Given the description of an element on the screen output the (x, y) to click on. 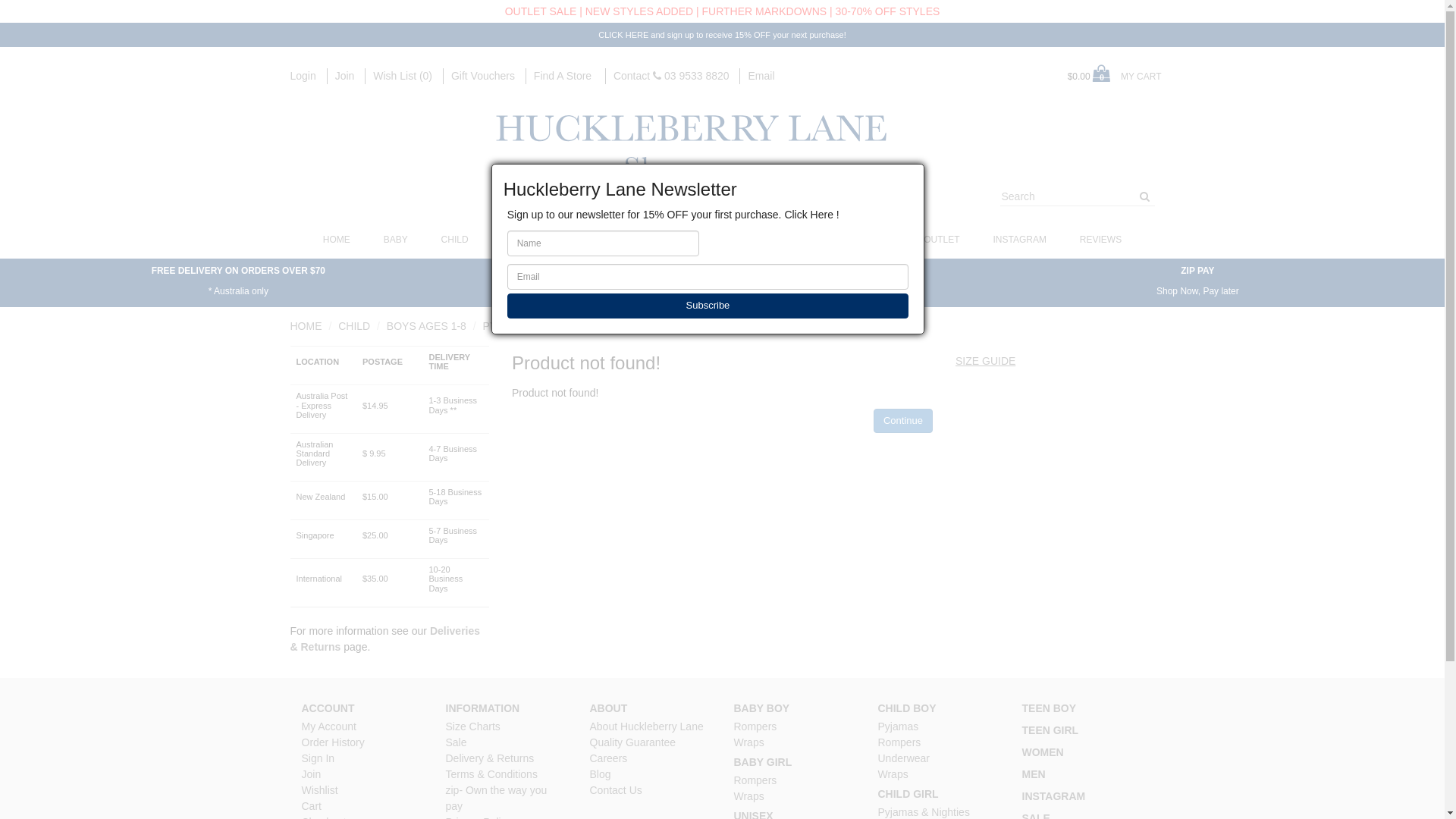
CHILD Element type: text (354, 326)
HOME Element type: text (305, 326)
Careers Element type: text (608, 758)
PYJAMAS Element type: text (507, 326)
Sign In Element type: text (318, 758)
FURTHER MARKDOWNS | Element type: text (767, 11)
Sale Element type: text (456, 742)
OUTLET SALE | Element type: text (543, 11)
Wishlist Element type: text (319, 790)
BABY Element type: text (395, 239)
zip- Own the way you pay Element type: text (496, 798)
Rompers Element type: text (755, 726)
Size Charts Element type: text (472, 726)
Wraps Element type: text (893, 774)
BABY BOY Element type: text (762, 708)
REVIEWS Element type: text (1100, 239)
Delivery & Returns Element type: text (489, 758)
Terms & Conditions Element type: text (491, 774)
Login Element type: text (302, 75)
 03 9533 8820 Element type: text (690, 75)
Pyjamas Element type: text (898, 726)
Order History Element type: text (332, 742)
SOFT TOYS Element type: text (583, 239)
CHILD BOY Element type: text (907, 708)
CHILD GIRL Element type: text (908, 794)
INSTAGRAM Element type: text (1019, 239)
Subscribe Element type: text (708, 305)
Email Element type: text (760, 75)
Pyjamas & Nighties Element type: text (923, 812)
SIZE GUIDE Element type: text (985, 360)
Blog Element type: text (600, 774)
Wish List (0) Element type: text (402, 75)
OUTLET Element type: text (941, 239)
Find A Store  Element type: text (563, 75)
WOMEN Element type: text (1042, 752)
TEEN BOY Element type: text (1049, 708)
INSTAGRAM Element type: text (1053, 796)
ACCESSORIES Element type: text (676, 239)
Continue Element type: text (902, 420)
Gift Vouchers Element type: text (482, 75)
BABY GIRL Element type: text (763, 762)
TEEN GIRL Element type: text (1050, 730)
Huckleberry Lane Element type: hover (721, 151)
Deliveries & Returns Element type: text (384, 638)
My Account Element type: text (328, 726)
Underwear Element type: text (903, 758)
TEEN Element type: text (513, 239)
Cart Element type: text (311, 806)
Quality Guarantee Element type: text (632, 742)
Join Element type: text (311, 774)
HOME Element type: text (336, 239)
BOYS AGES 1-8 Element type: text (426, 326)
MY CART Element type: text (1140, 76)
NEW STYLES ADDED | Element type: text (642, 11)
Join Element type: text (344, 75)
CHILD Element type: text (454, 239)
Wraps Element type: text (749, 796)
MEN Element type: text (1033, 774)
30-70% OFF STYLES Element type: text (887, 11)
About Huckleberry Lane Element type: text (646, 726)
BLOG Element type: text (877, 239)
Wraps Element type: text (749, 742)
Rompers Element type: text (755, 780)
PRODUCT NOT FOUND! Element type: text (609, 326)
Rompers Element type: text (899, 742)
Contact Us Element type: text (615, 790)
WOMAN Element type: text (760, 239)
MAN Element type: text (821, 239)
